Given the description of an element on the screen output the (x, y) to click on. 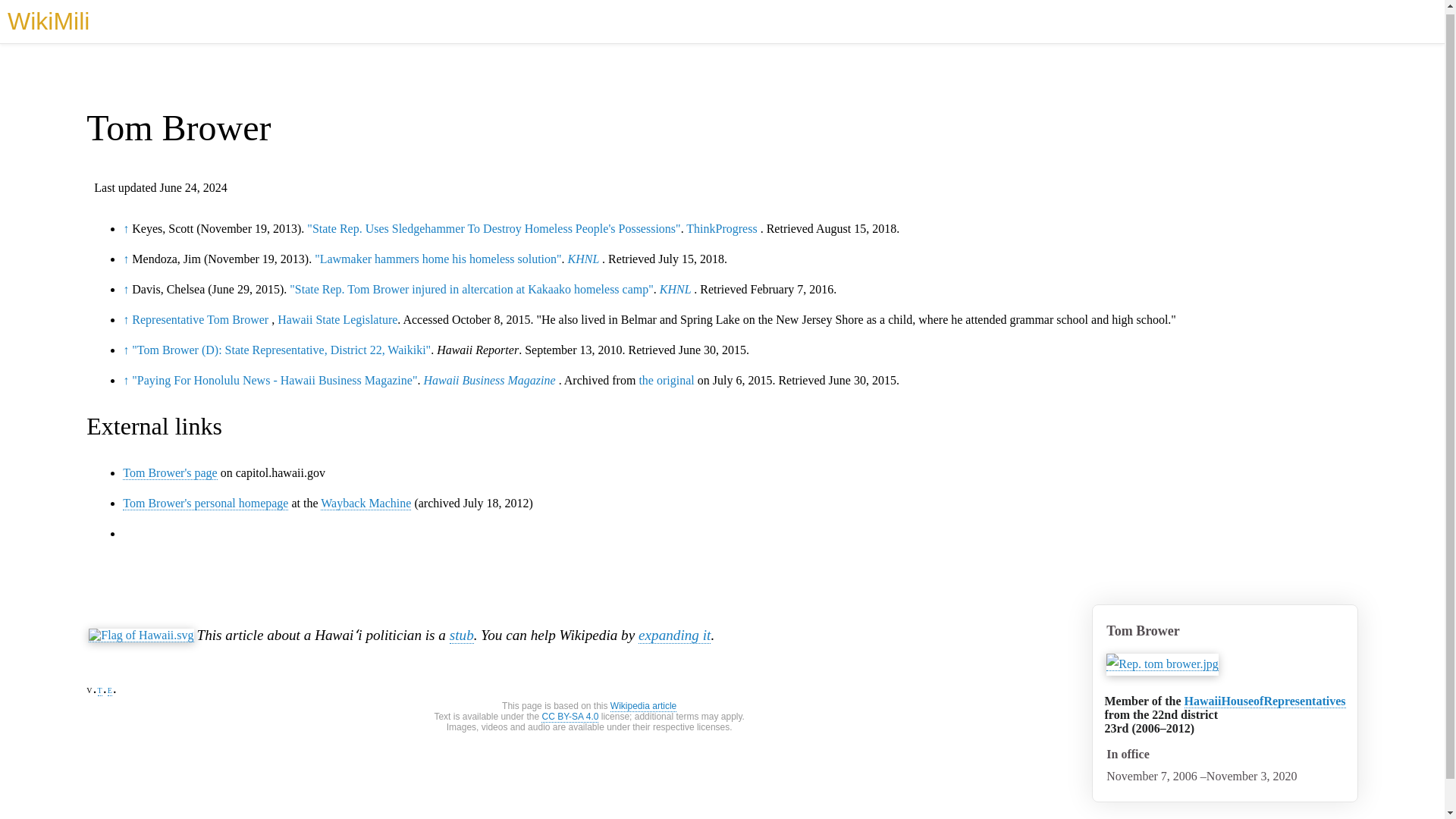
expanding it (674, 635)
Wayback Machine (365, 503)
Hawaii House of Representatives (1265, 701)
Wayback Machine (365, 503)
stub (461, 635)
Tom Brower's page (169, 472)
"Paying For Honolulu News - Hawaii Business Magazine" (274, 379)
Edit this template (109, 689)
t (99, 689)
Template talk:Hawaii-politician-stub (99, 689)
Hawaii State Legislature (337, 318)
WikiMili (47, 17)
Discuss this template (99, 689)
Hawaii Business Magazine (488, 379)
Hawaii State Legislature (337, 318)
